Given the description of an element on the screen output the (x, y) to click on. 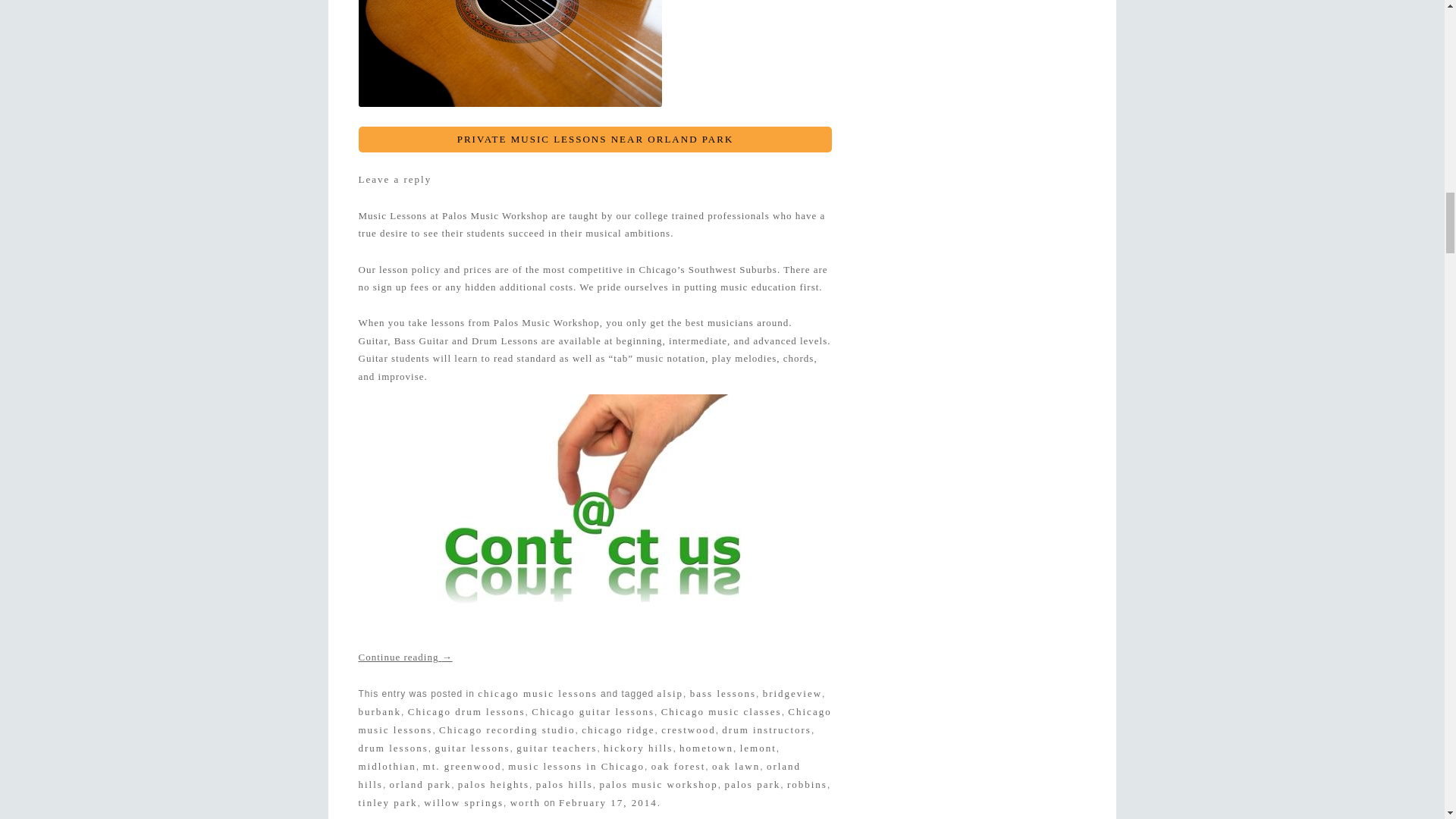
Contact (594, 519)
2:42 pm (608, 802)
